Given the description of an element on the screen output the (x, y) to click on. 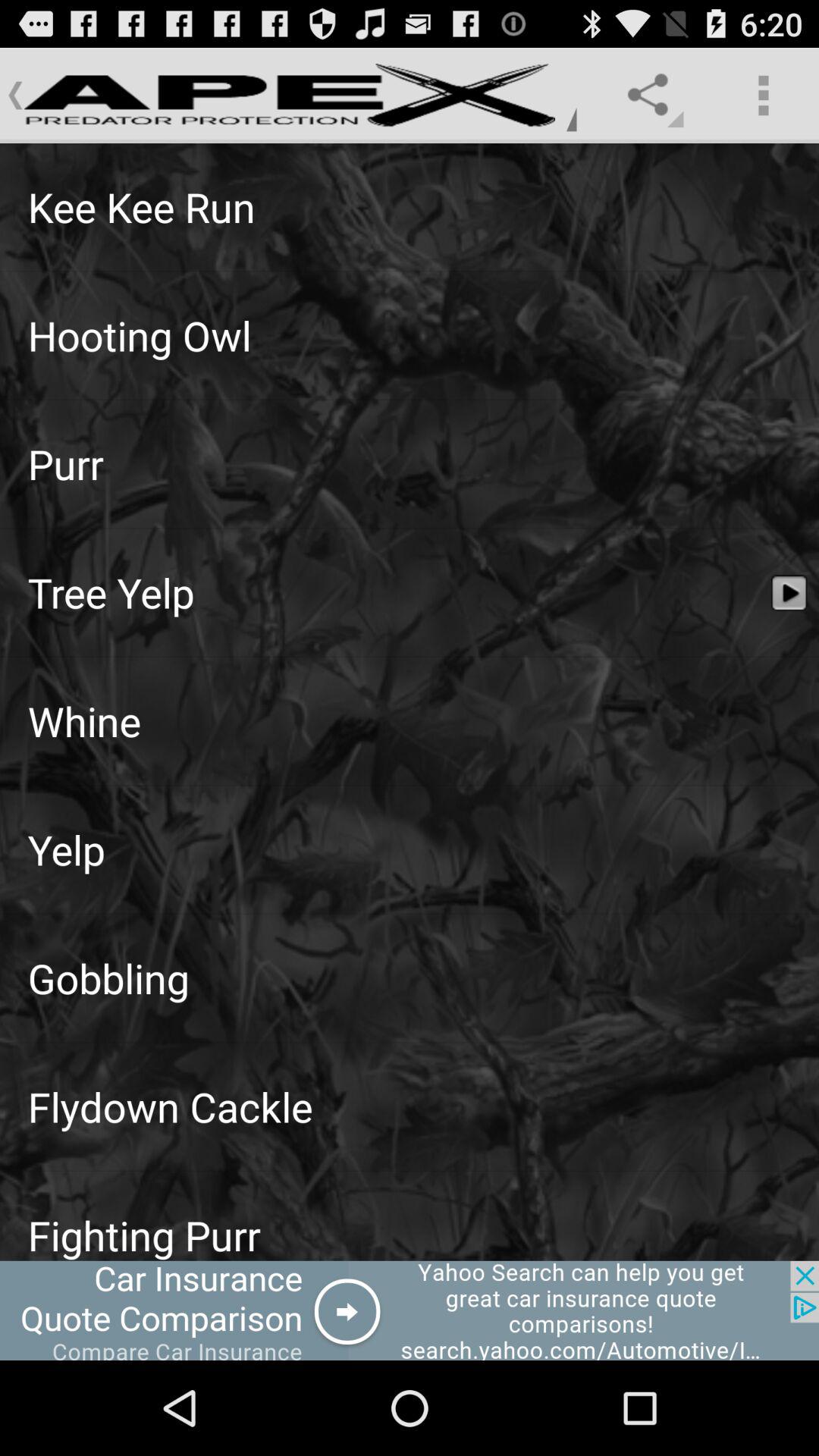
open advertisement (409, 1310)
